Given the description of an element on the screen output the (x, y) to click on. 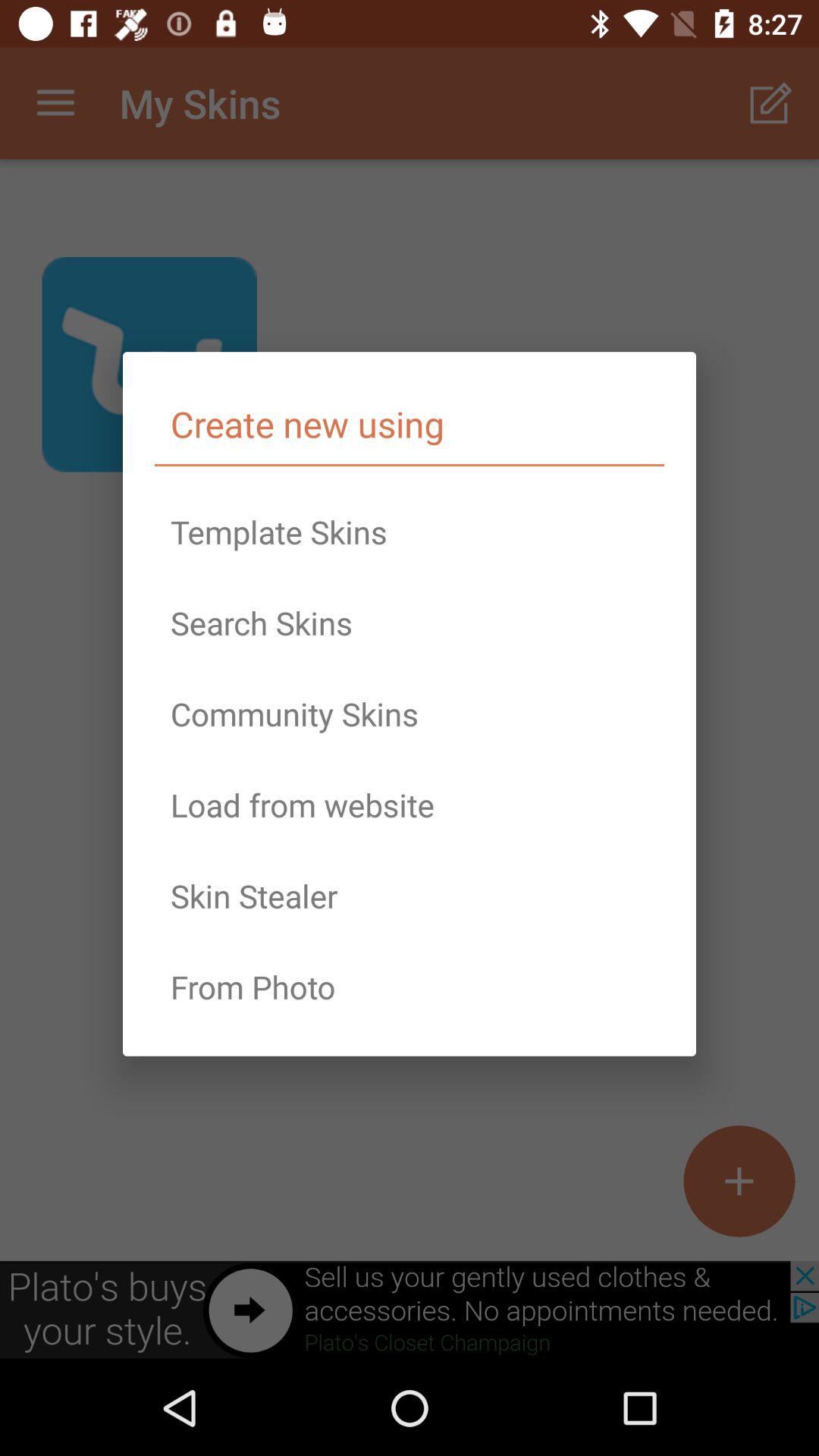
turn on the item above the load from website icon (409, 713)
